Given the description of an element on the screen output the (x, y) to click on. 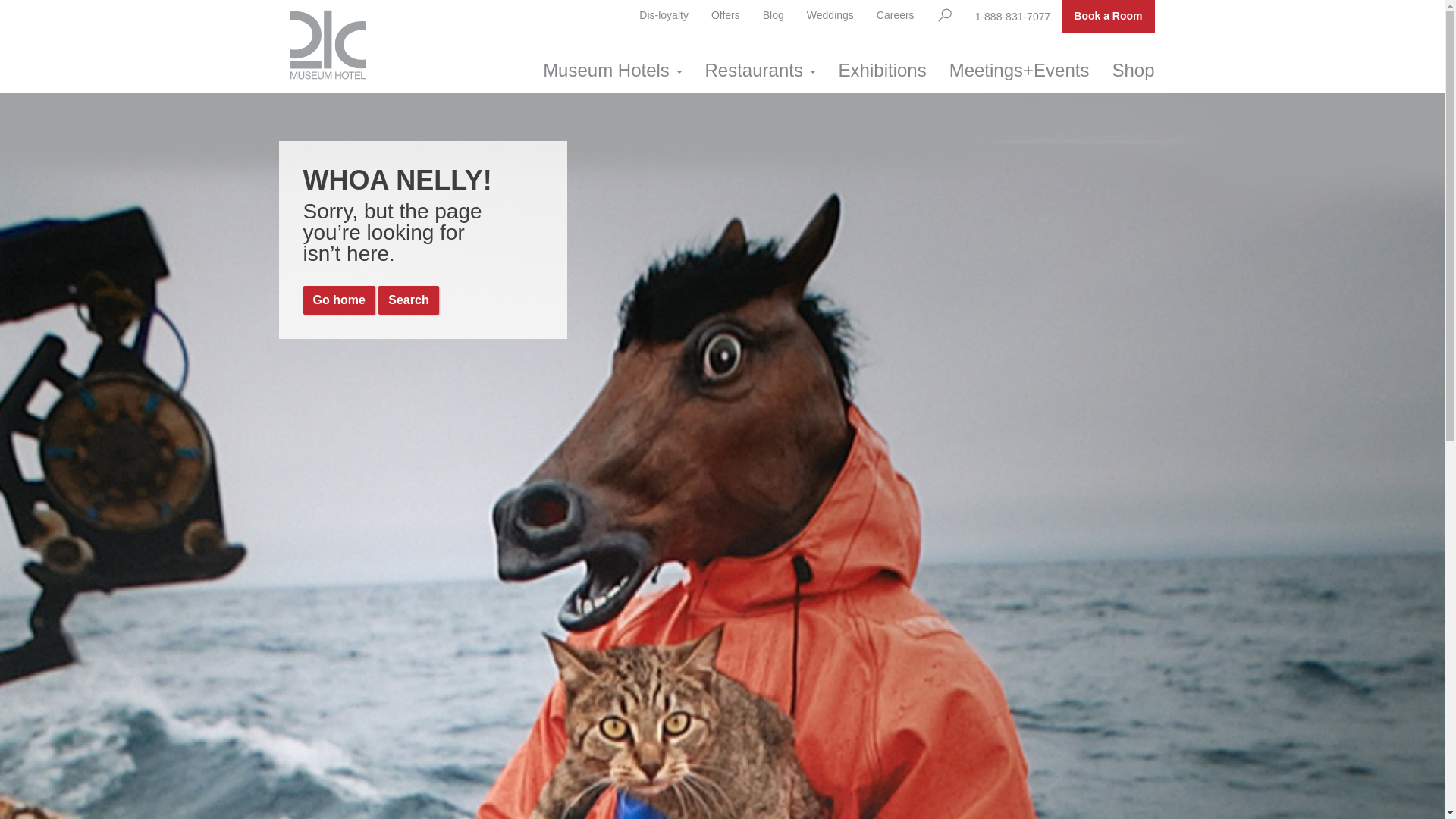
Go home Element type: text (339, 299)
Exhibitions Element type: text (882, 70)
Blog Element type: text (773, 15)
Search Element type: text (408, 299)
Restaurants Element type: text (760, 70)
Museum Hotels Element type: text (612, 70)
Offers Element type: text (725, 15)
Meetings+Events Element type: text (1019, 70)
1-888-831-7077 Element type: text (1012, 16)
Shop Element type: text (1132, 70)
Careers Element type: text (895, 15)
Dis-loyalty Element type: text (663, 15)
Weddings Element type: text (830, 15)
Book a Room Element type: text (1107, 16)
